Given the description of an element on the screen output the (x, y) to click on. 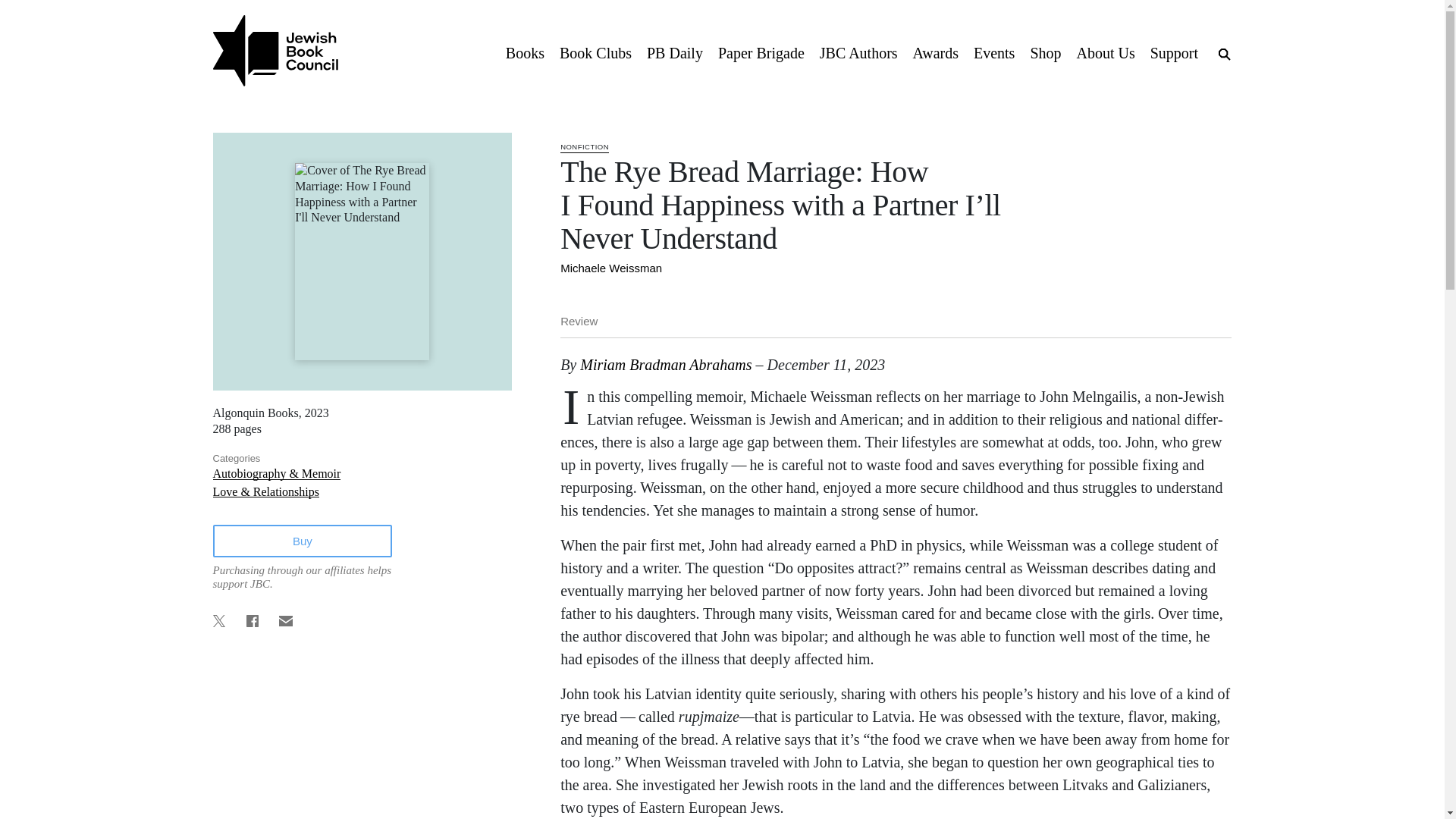
Book Clubs (595, 52)
JBC Authors (858, 52)
Paper Brigade (761, 52)
PB Daily (674, 52)
Awards (935, 52)
Books (524, 52)
